Given the description of an element on the screen output the (x, y) to click on. 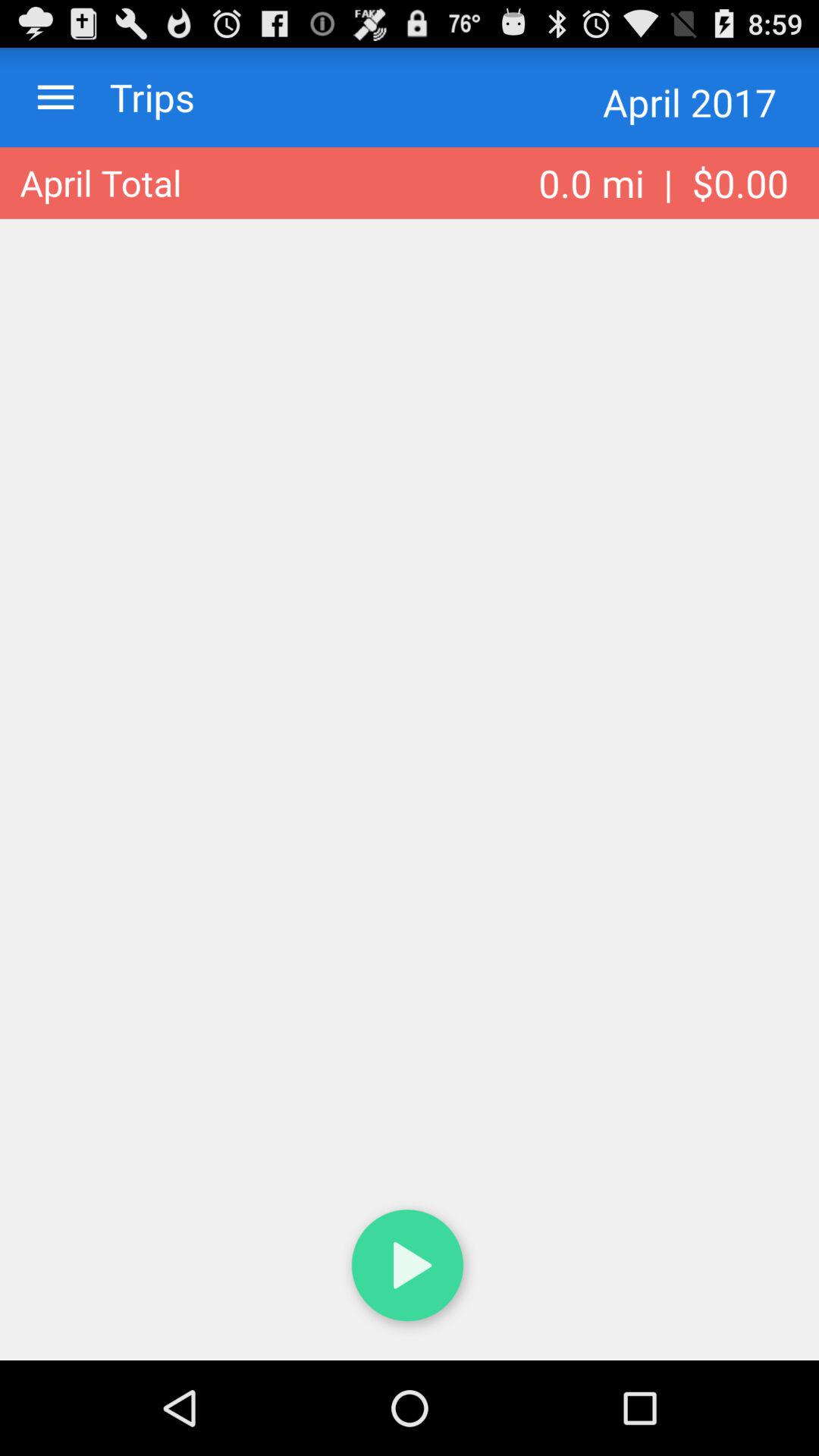
jump to 0 0 mi item (663, 182)
